Given the description of an element on the screen output the (x, y) to click on. 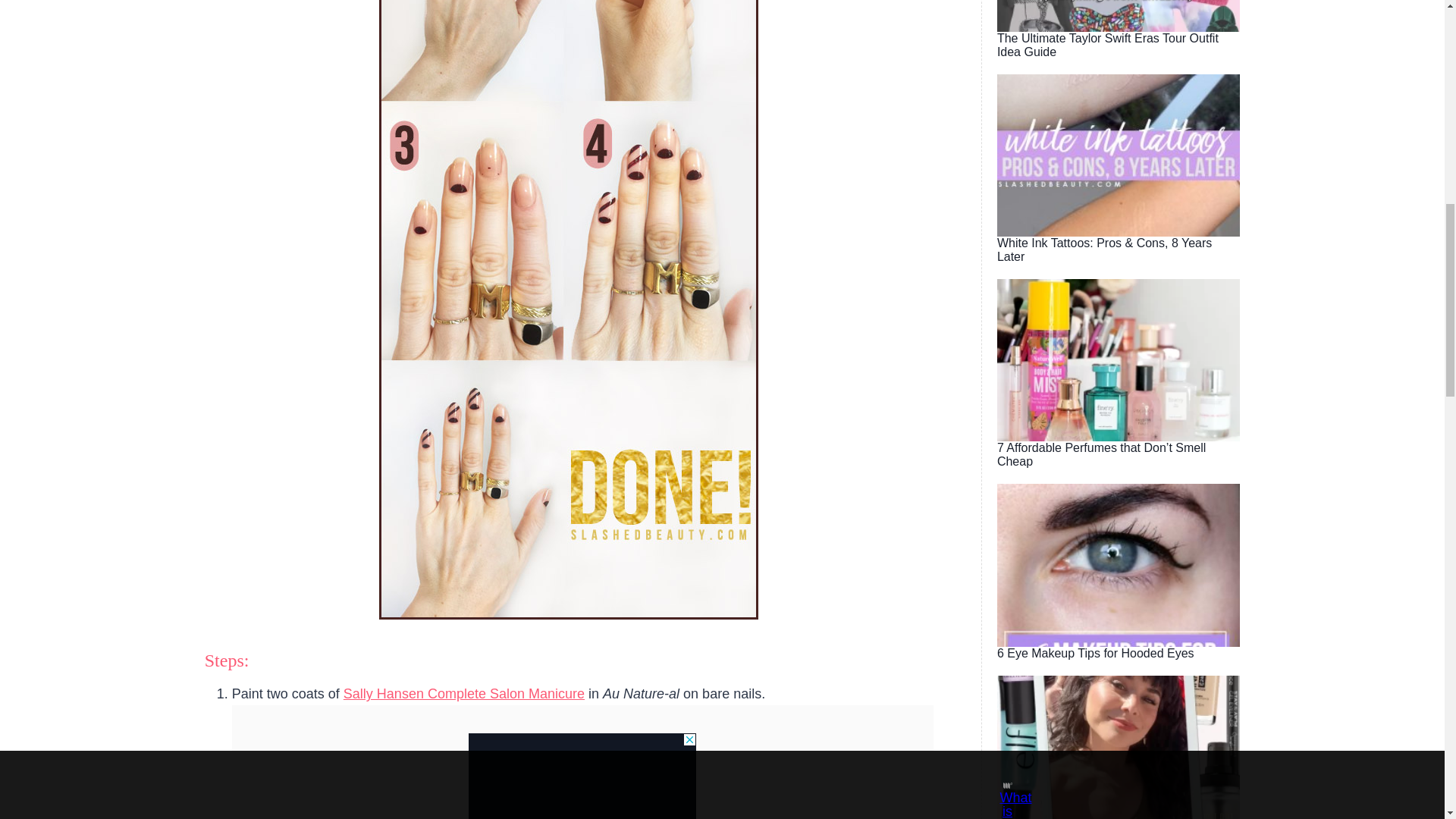
Sally Hansen Complete Salon Manicure (464, 693)
3rd party ad content (581, 776)
